Given the description of an element on the screen output the (x, y) to click on. 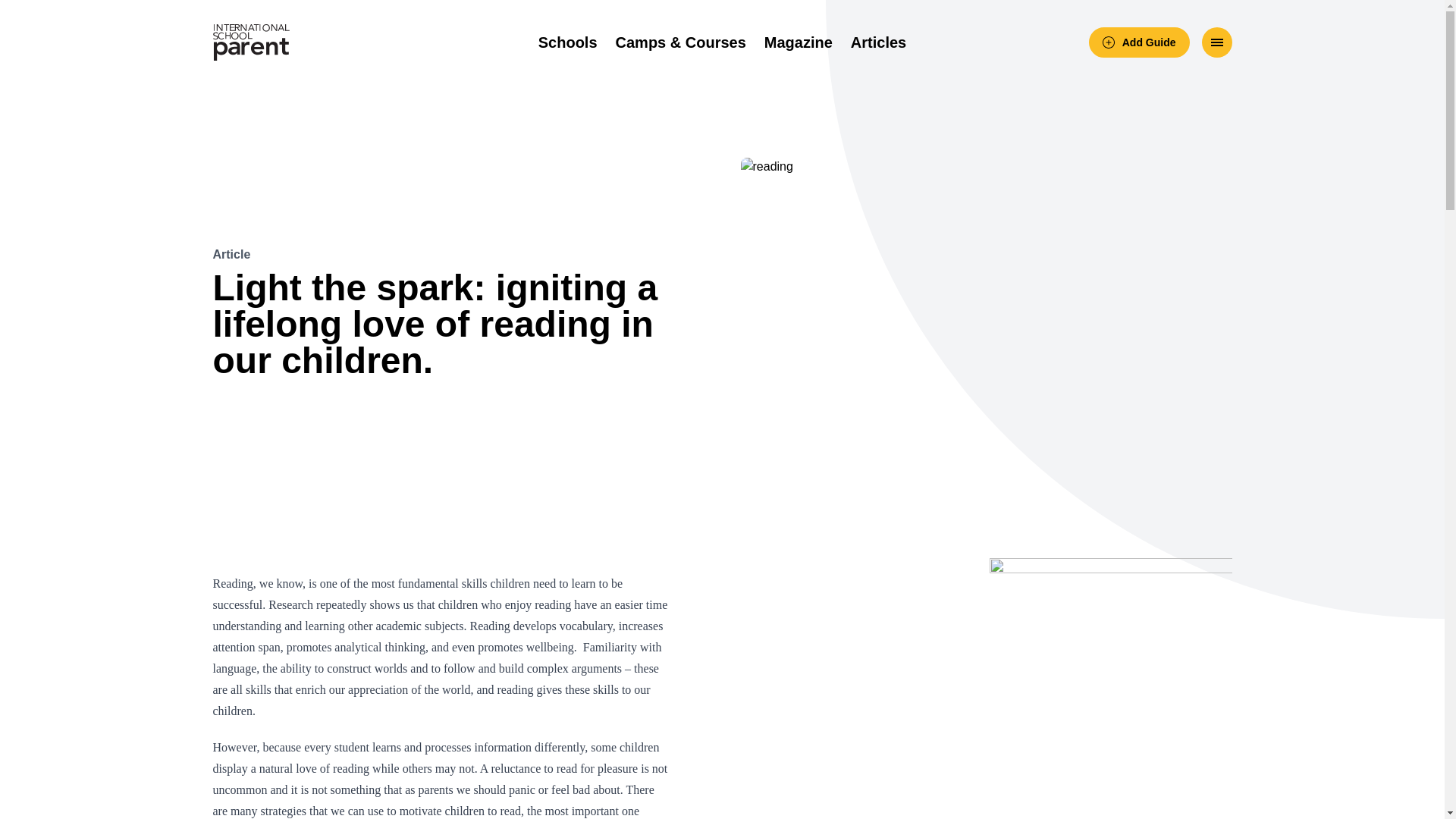
Add Guide (1139, 42)
Open mobile navigation (1216, 42)
Articles (877, 42)
Magazine (798, 42)
Schools (567, 42)
